Given the description of an element on the screen output the (x, y) to click on. 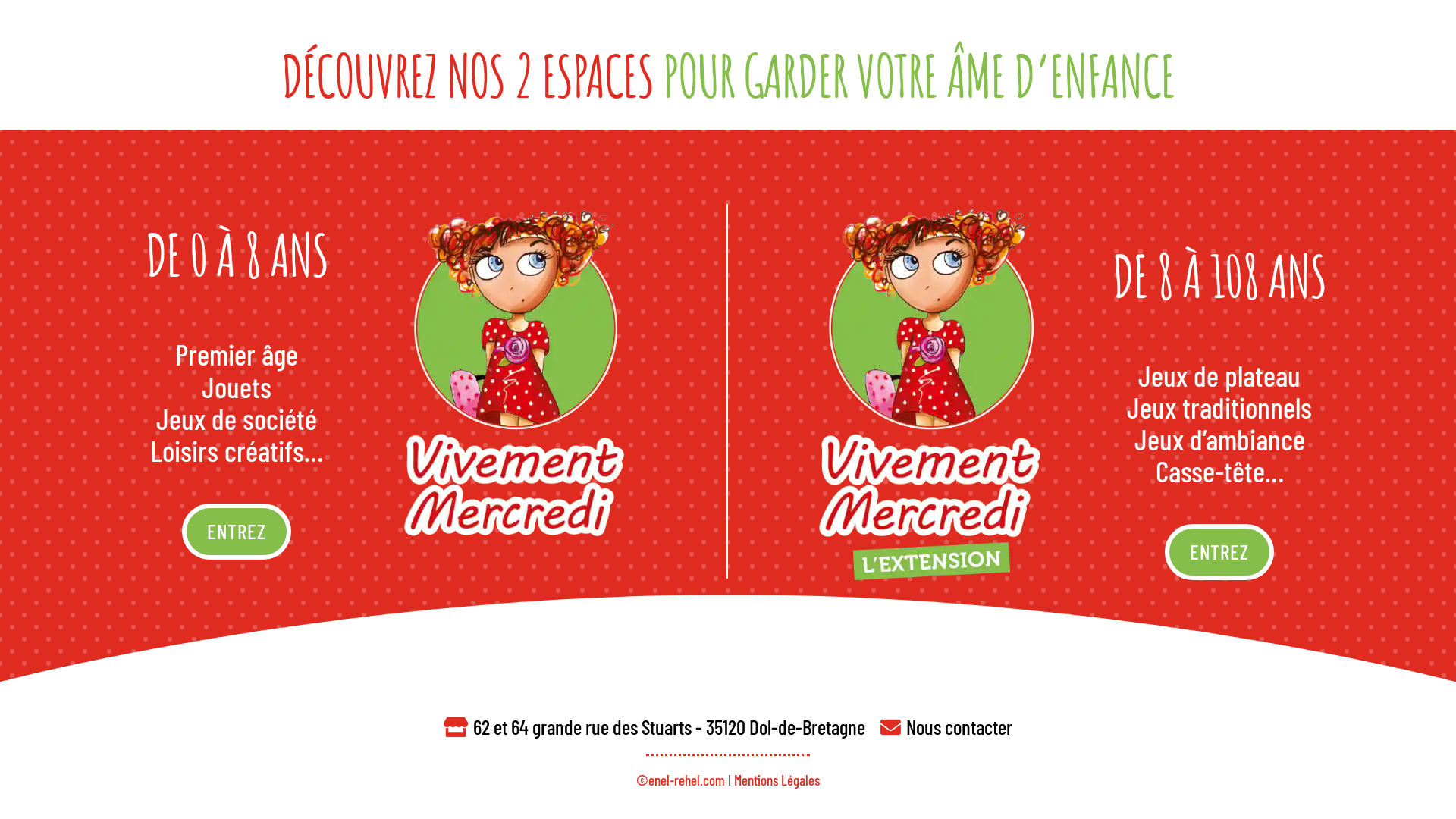
ENTREZ Element type: text (1219, 552)
Nous contacter Element type: text (959, 726)
ENTREZ Element type: text (236, 531)
LOGO_VIVEMENT_MERCREDI_EXTENSION_V_2L Element type: hover (935, 391)
62 et 64 grande rue des Stuarts - 35120 Dol-de-Bretagne Element type: text (669, 726)
LOGO_VIVEMENT_MERCREDI_V_2L_HOME Element type: hover (519, 390)
